Given the description of an element on the screen output the (x, y) to click on. 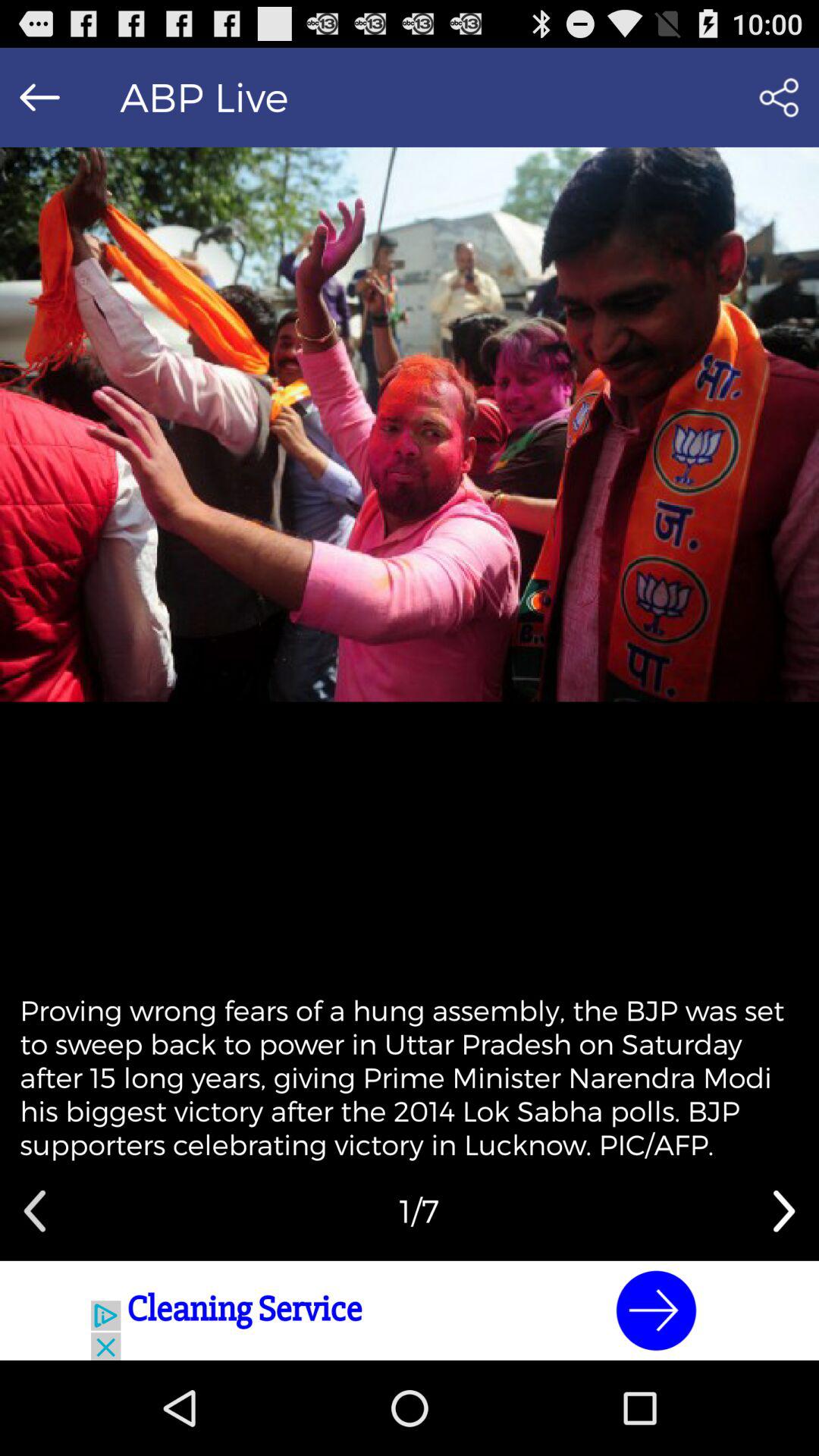
go to previous (34, 1211)
